Given the description of an element on the screen output the (x, y) to click on. 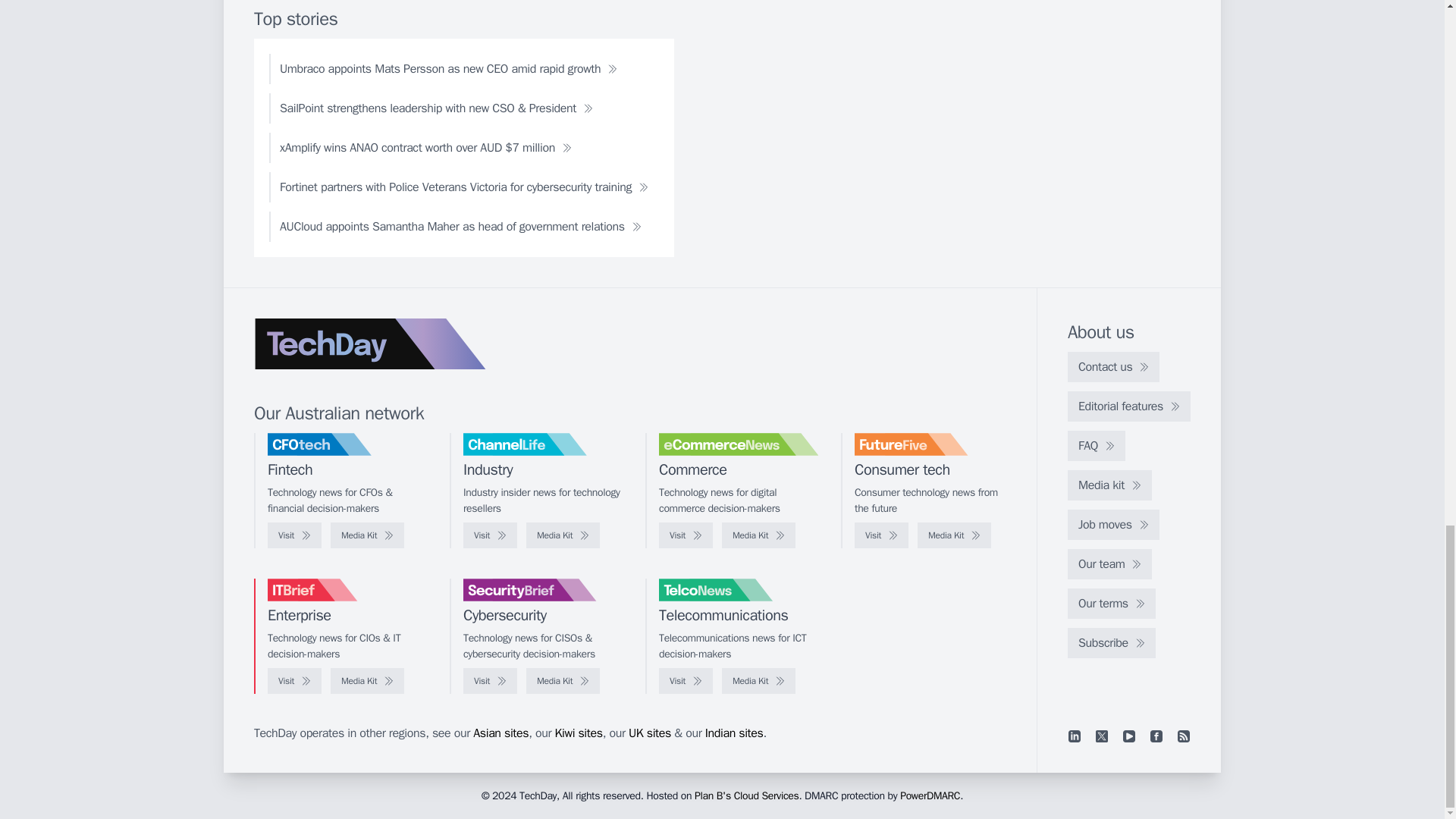
Visit (686, 534)
Umbraco appoints Mats Persson as new CEO amid rapid growth (448, 69)
Visit (489, 534)
Media Kit (954, 534)
Media Kit (562, 534)
Media Kit (367, 534)
Media Kit (758, 534)
Visit (294, 534)
